Given the description of an element on the screen output the (x, y) to click on. 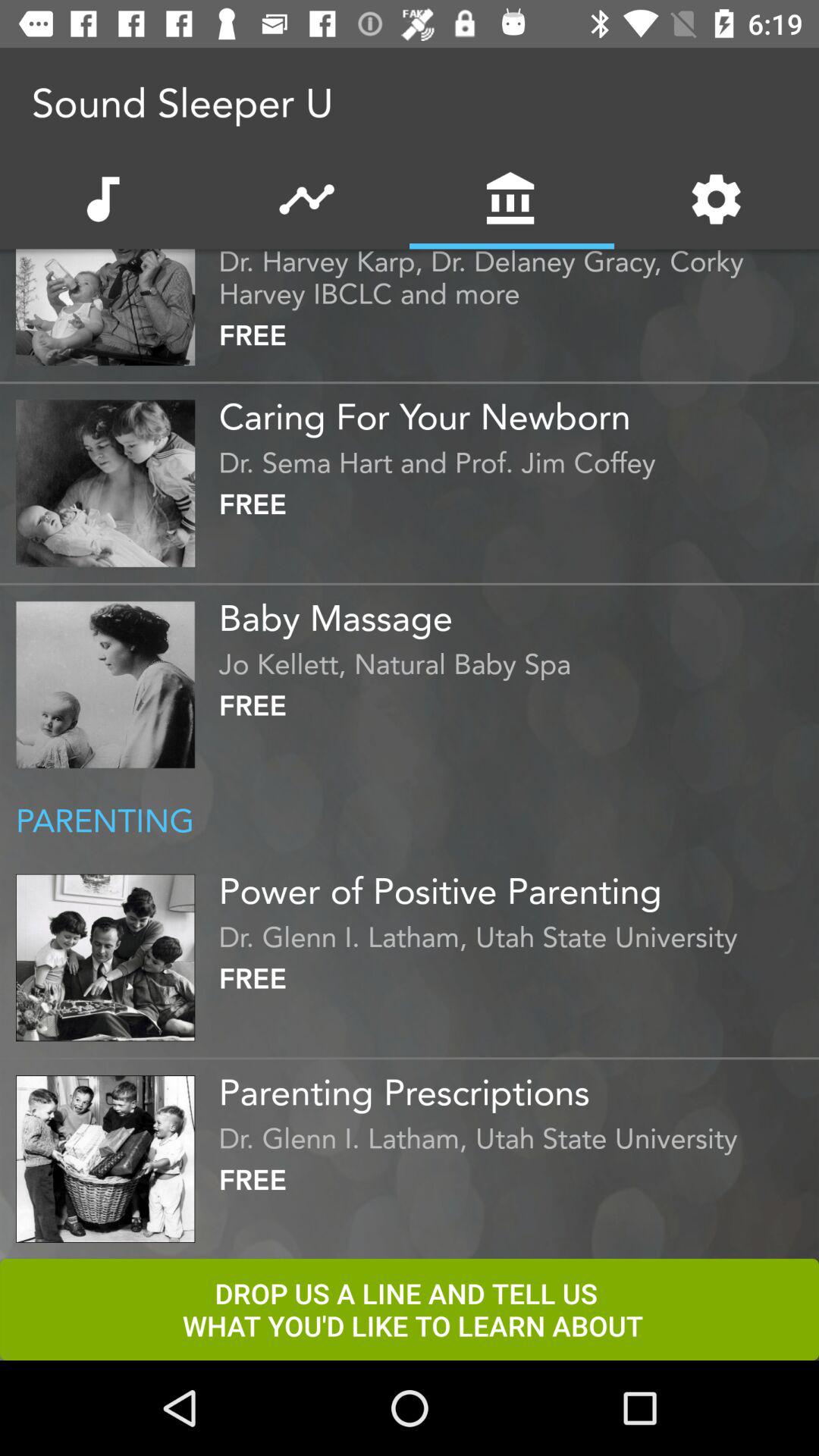
choose the power of positive item (515, 885)
